Given the description of an element on the screen output the (x, y) to click on. 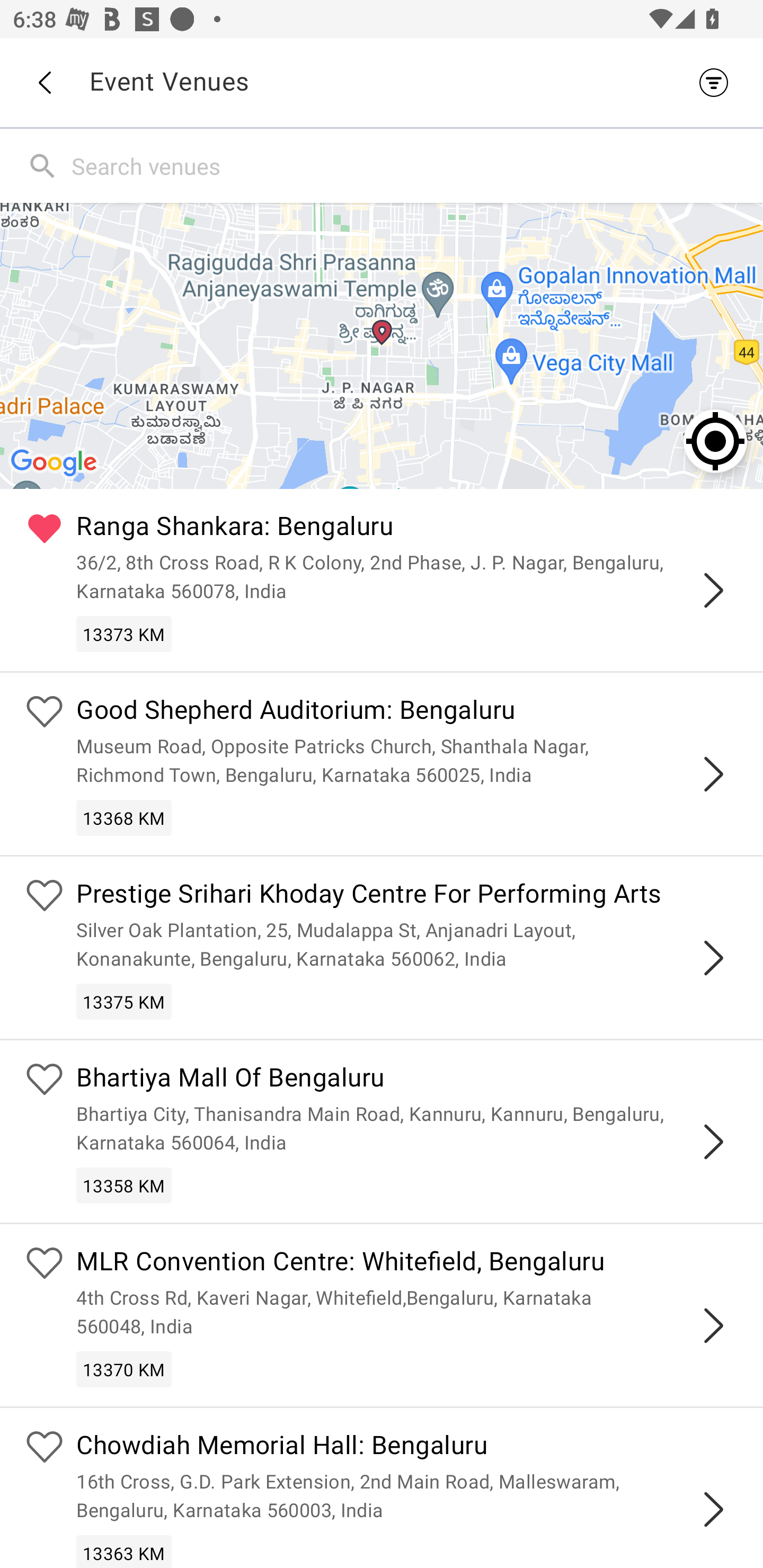
Back Event Venues Filter (381, 82)
Filter (718, 82)
Back (44, 82)
Search venues (413, 165)
Google Map Ranga Shankara: Bengaluru (381, 345)
Ranga Shankara: Bengaluru (406, 528)
 (713, 590)
13373 KM (123, 634)
Good Shepherd Auditorium: Bengaluru (406, 711)
 (713, 773)
13368 KM (123, 817)
Prestige Srihari Khoday Centre For Performing Arts (406, 894)
 (713, 957)
13375 KM (123, 1001)
Bhartiya Mall Of Bengaluru (406, 1079)
 (713, 1141)
13358 KM (123, 1186)
MLR Convention Centre: Whitefield, Bengaluru (406, 1263)
 (713, 1325)
13370 KM (123, 1369)
Chowdiah Memorial Hall: Bengaluru (406, 1446)
 (713, 1508)
13363 KM (123, 1551)
